Given the description of an element on the screen output the (x, y) to click on. 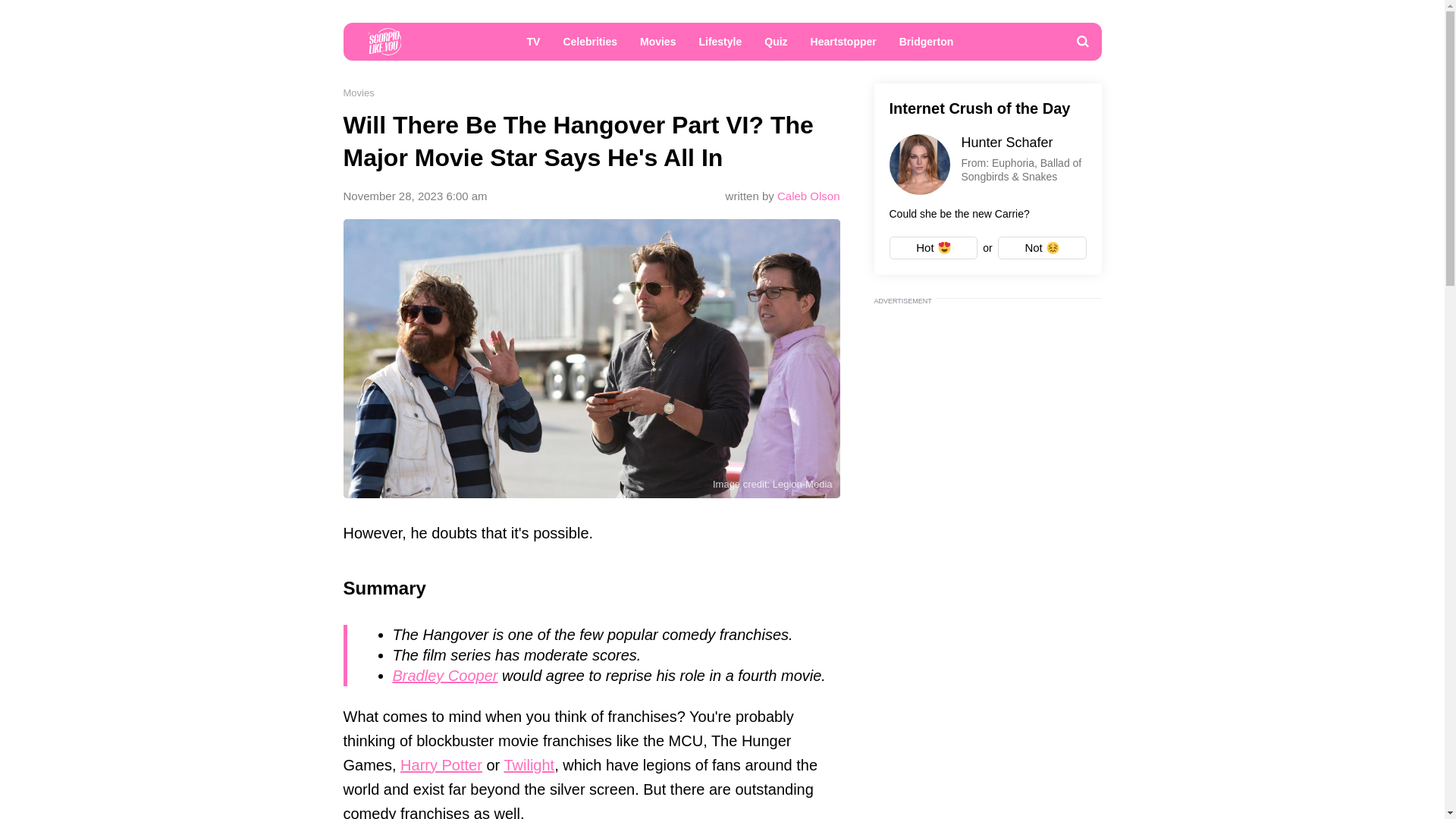
Movies (657, 46)
Bradley Cooper (445, 675)
Bridgerton (926, 46)
Quiz (774, 46)
TV (533, 46)
Movies (358, 92)
Caleb Olson (808, 195)
Celebrities (589, 46)
Heartstopper (843, 46)
Lifestyle (719, 46)
Harry Potter (440, 764)
